Given the description of an element on the screen output the (x, y) to click on. 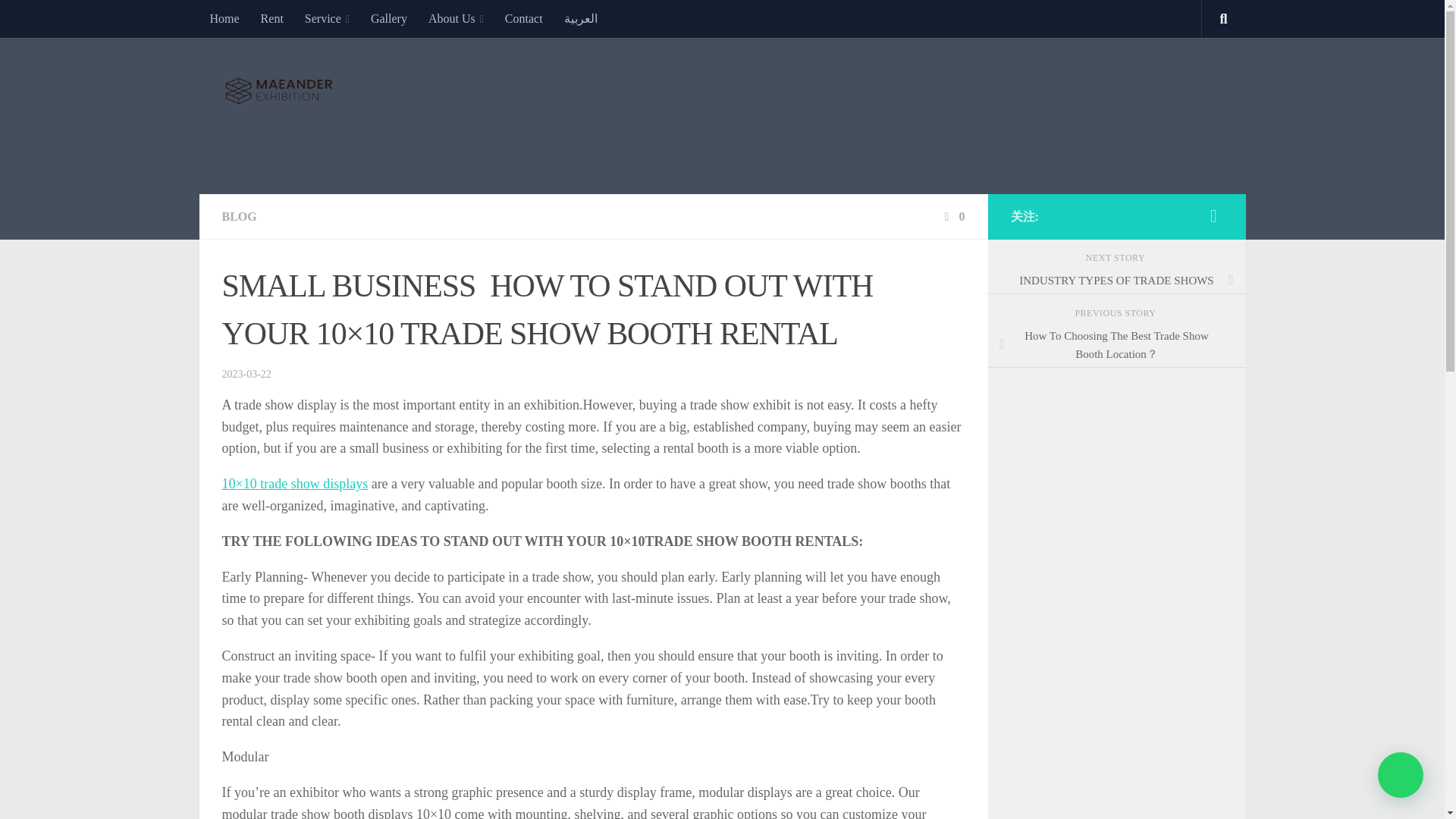
Sign Up (272, 18)
0 (951, 215)
Gallery (388, 18)
About Us (456, 18)
Products (388, 18)
Service (326, 18)
Home (223, 18)
Skip to content (59, 20)
Contact (524, 18)
Rent (272, 18)
